Given the description of an element on the screen output the (x, y) to click on. 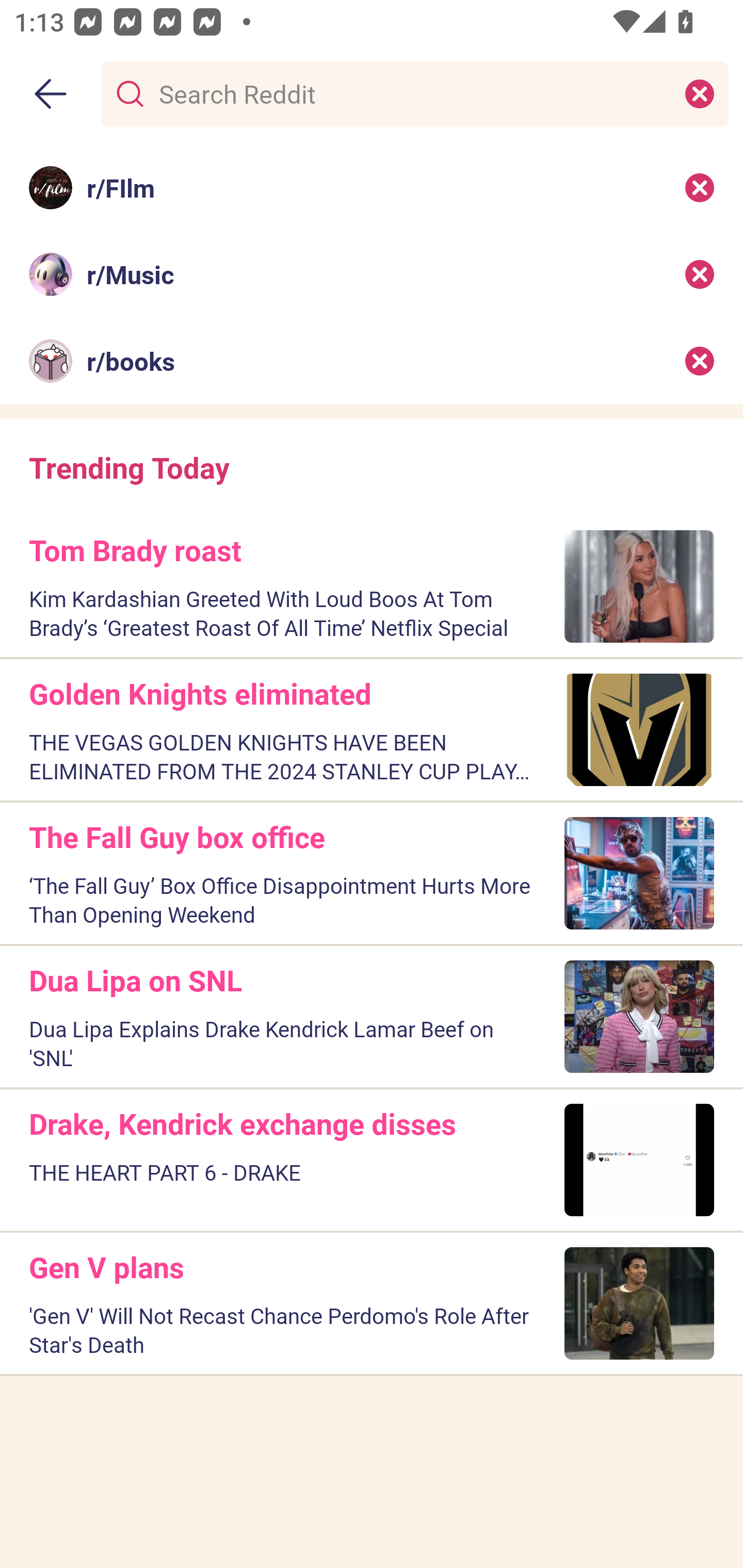
Back (50, 93)
Search Reddit (410, 93)
Clear search (699, 93)
r/FIlm Recent search: r/FIlm Remove (371, 187)
Remove (699, 187)
r/Music Recent search: r/Music Remove (371, 274)
Remove (699, 274)
r/books Recent search: r/books Remove (371, 361)
Remove (699, 361)
